Given the description of an element on the screen output the (x, y) to click on. 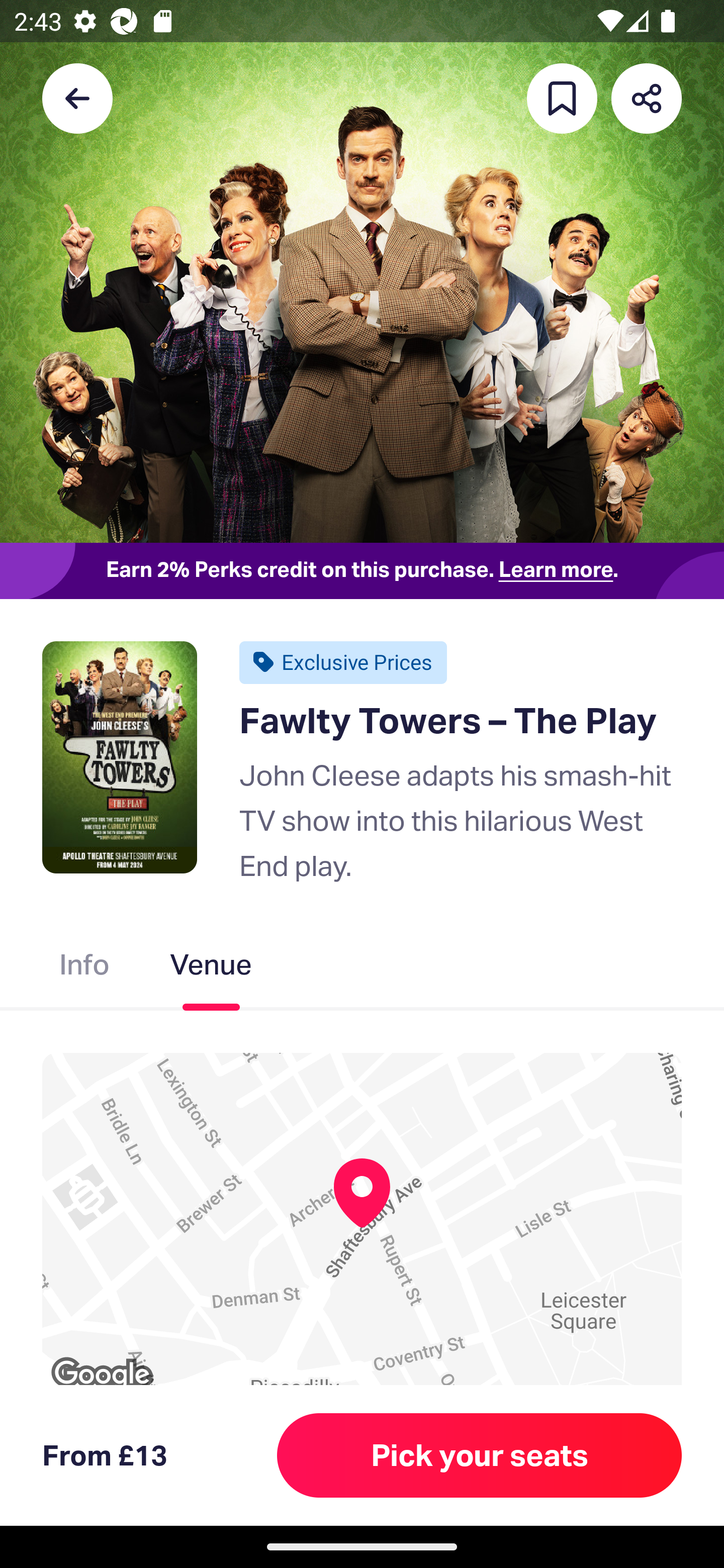
Earn 2% Perks credit on this purchase. Learn more. (362, 570)
Info (83, 968)
Google Map Apollo Theatre.  (361, 1228)
Pick your seats (479, 1454)
